Given the description of an element on the screen output the (x, y) to click on. 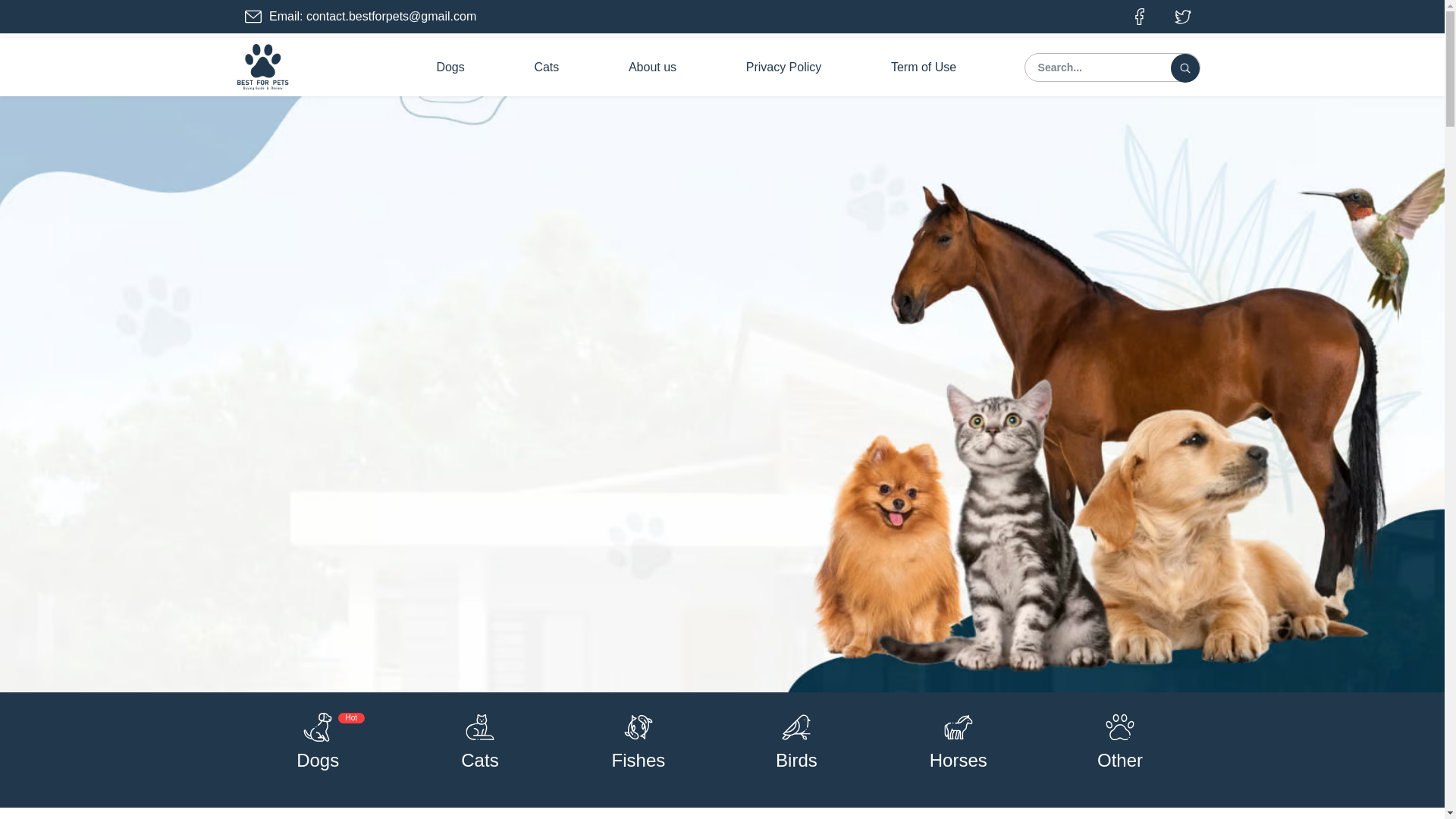
Horses (958, 760)
About us (652, 67)
Term of Use (923, 67)
Dogs (450, 67)
Dogs (318, 760)
Fishes (638, 760)
Cats (546, 67)
Privacy Policy (783, 67)
Cats (479, 760)
Birds (796, 760)
